Given the description of an element on the screen output the (x, y) to click on. 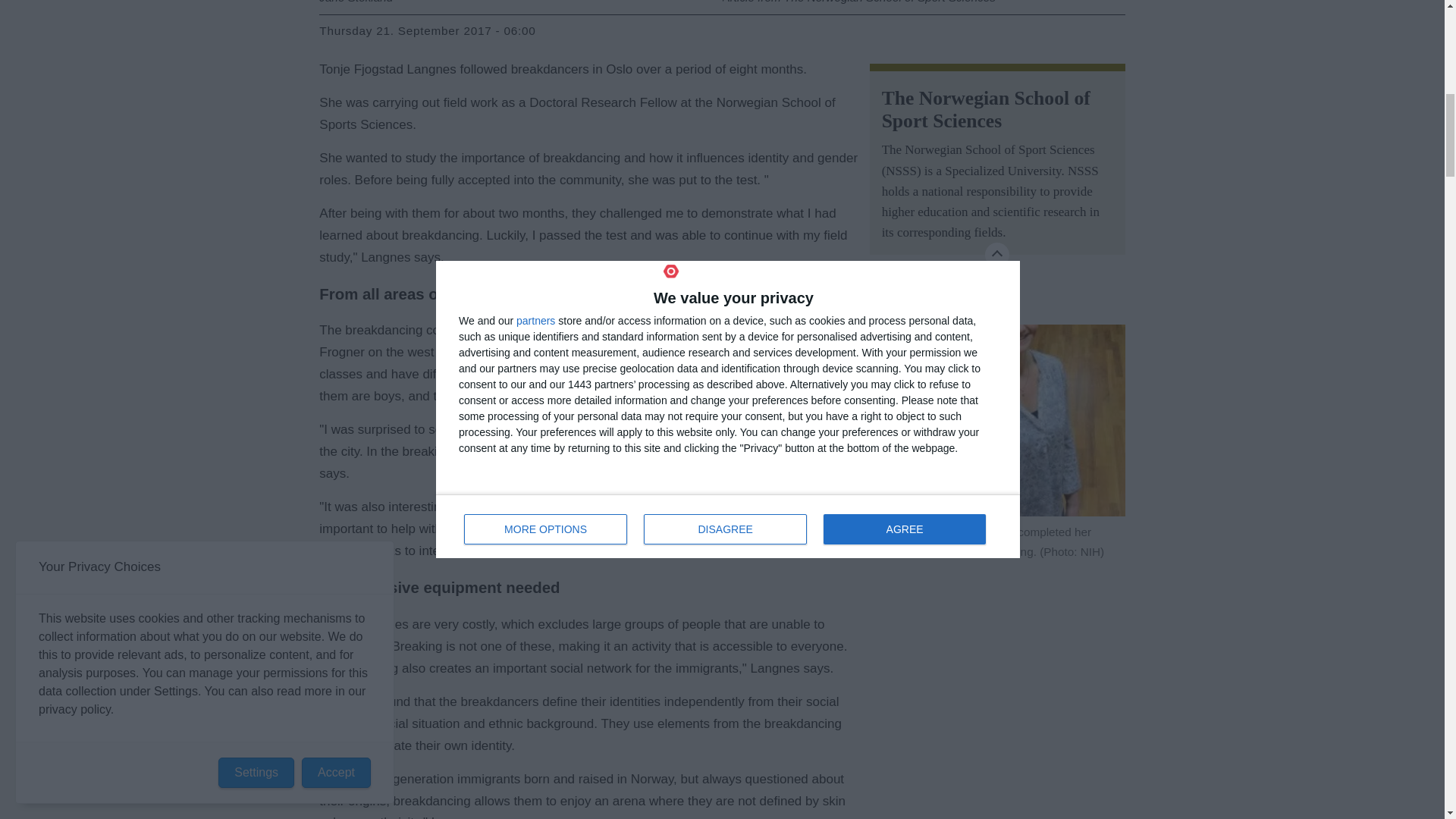
 thursday 21. September 2017 - 06:00 (426, 31)
